Given the description of an element on the screen output the (x, y) to click on. 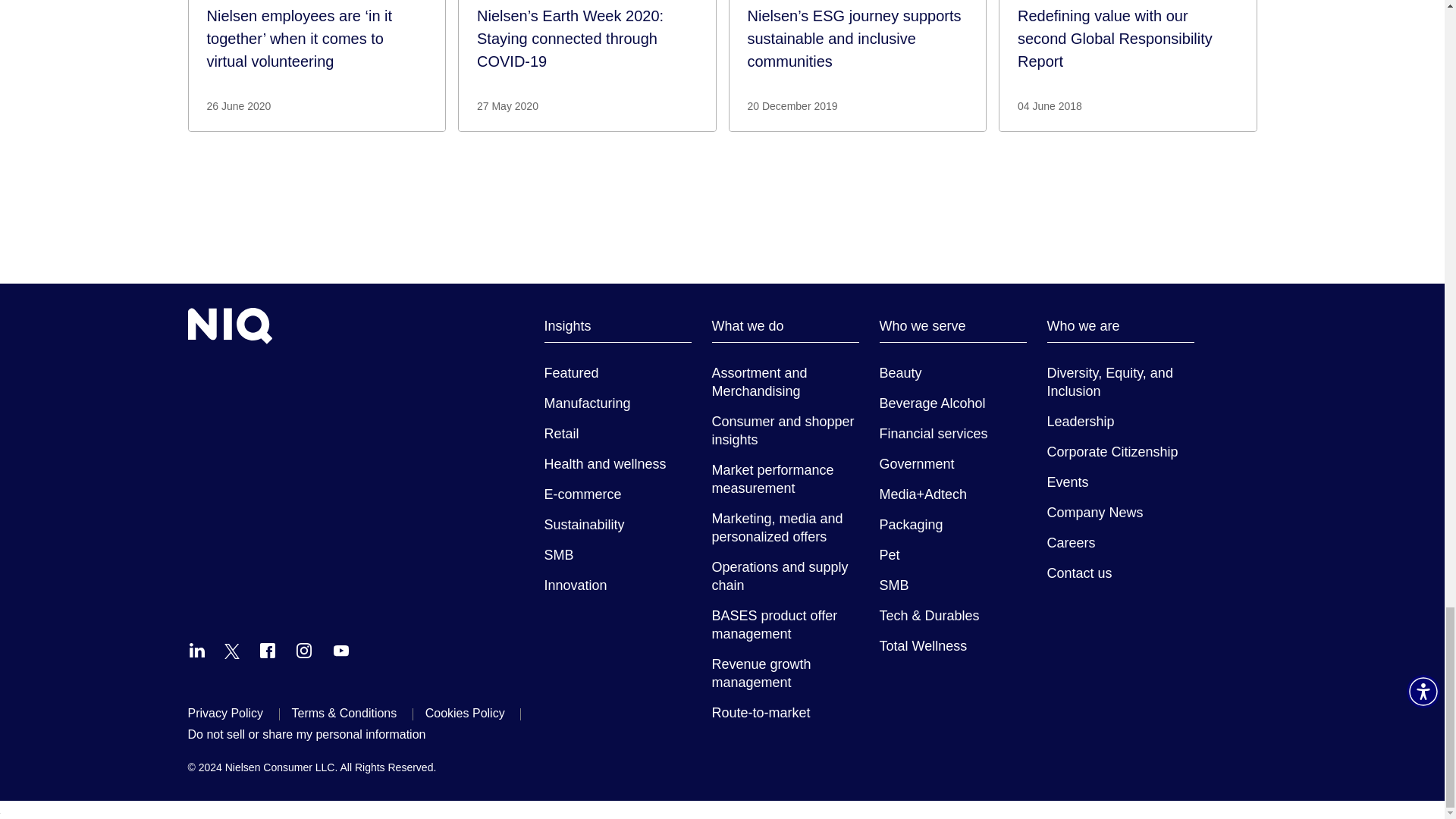
Instagram (304, 650)
Linkedin (196, 650)
Facebook (266, 650)
YouTube (340, 650)
